Given the description of an element on the screen output the (x, y) to click on. 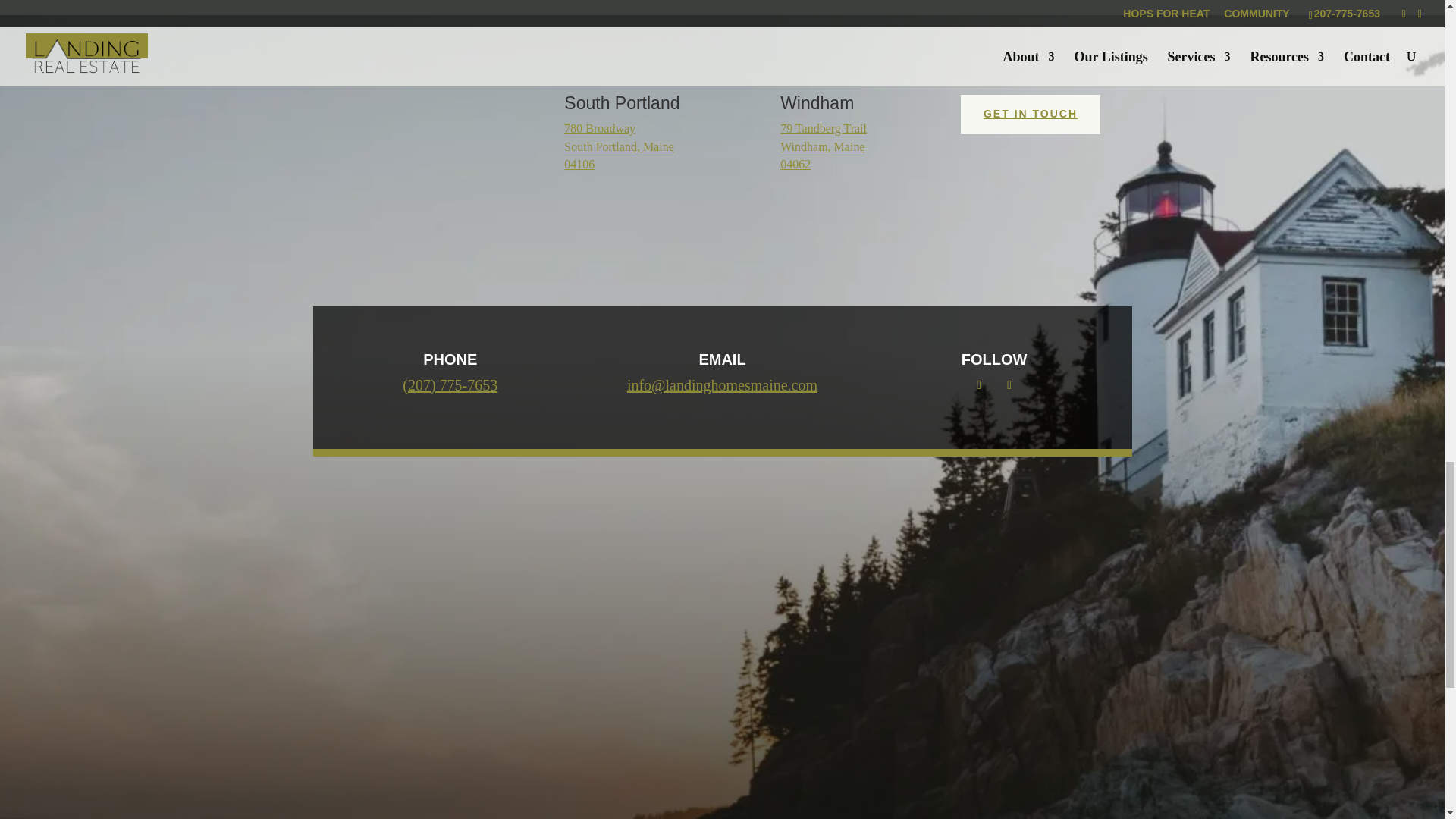
Follow on Facebook (978, 385)
Follow on Instagram (1009, 385)
